Given the description of an element on the screen output the (x, y) to click on. 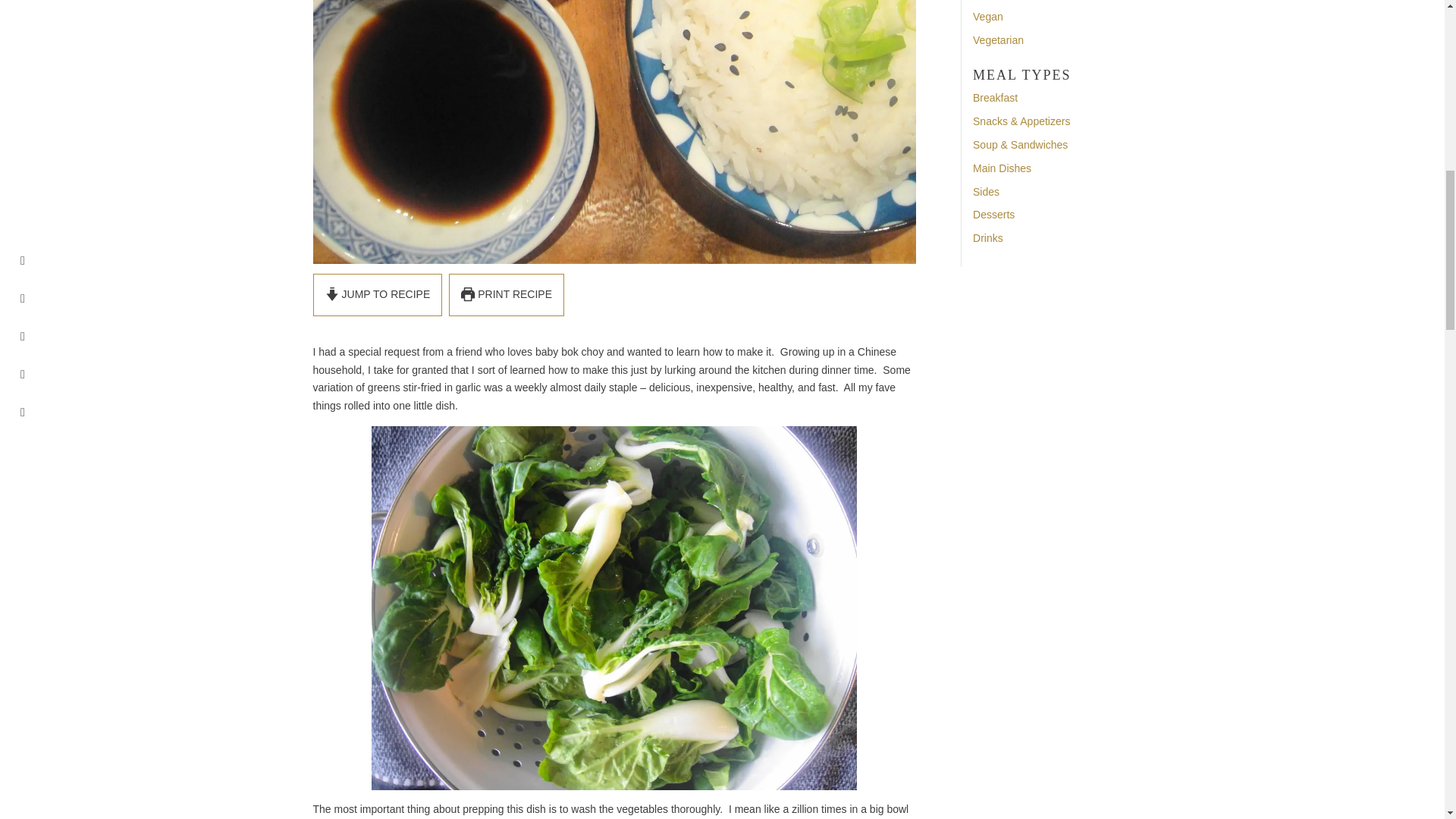
Vegan (987, 16)
PRINT RECIPE (506, 294)
Vegetarian (997, 39)
JUMP TO RECIPE (377, 294)
